Given the description of an element on the screen output the (x, y) to click on. 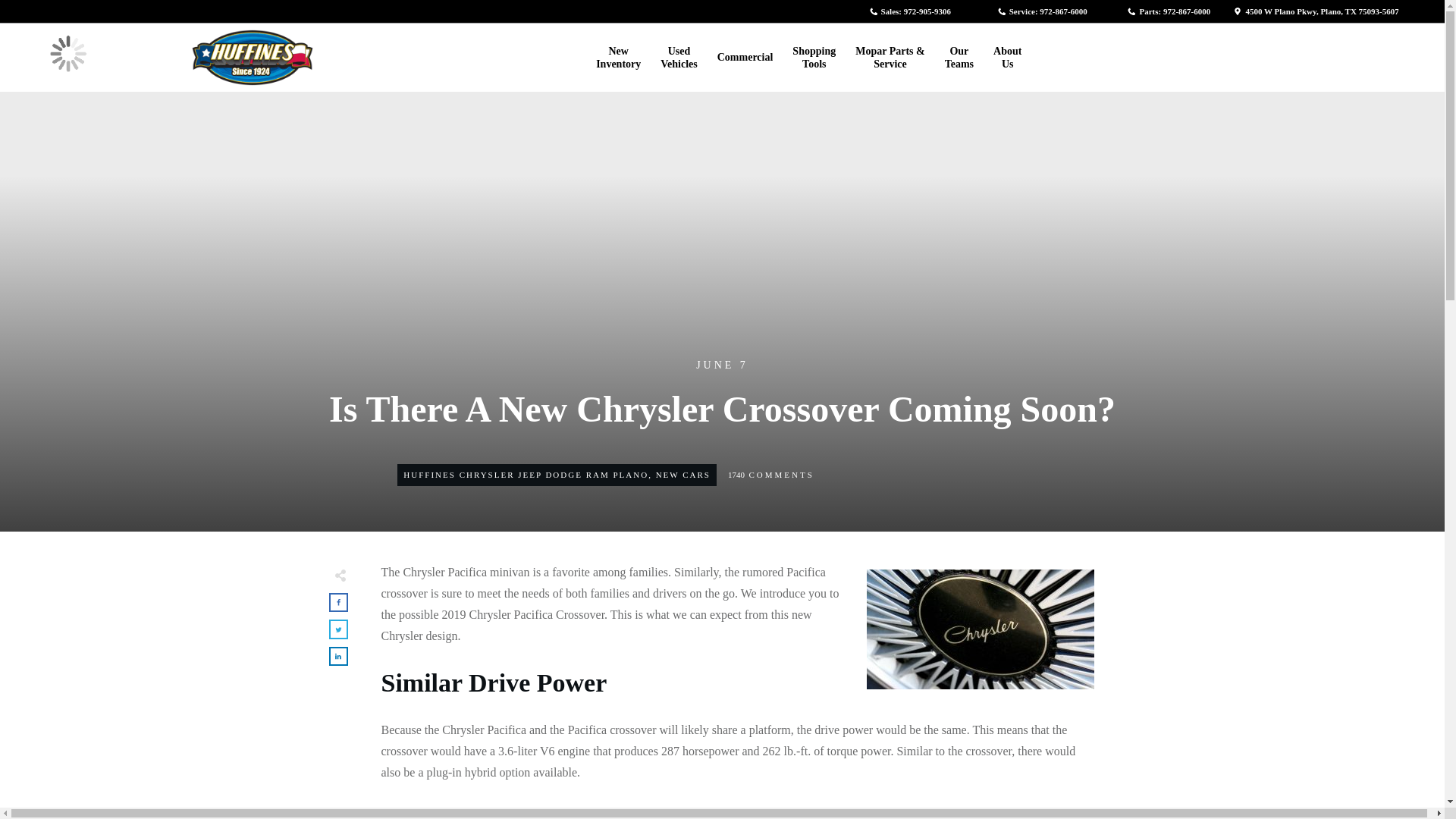
Huffines Chrysler Jeep Dodge Ram Plano (525, 474)
Sales: 972-905-9306 (909, 11)
Commercial (745, 57)
4500 W Plano Pkwy, Plano, TX 75093-5607 (1315, 11)
New Cars (679, 57)
Parts: 972-867-6000 (617, 57)
Service: 972-867-6000 (683, 474)
